Given the description of an element on the screen output the (x, y) to click on. 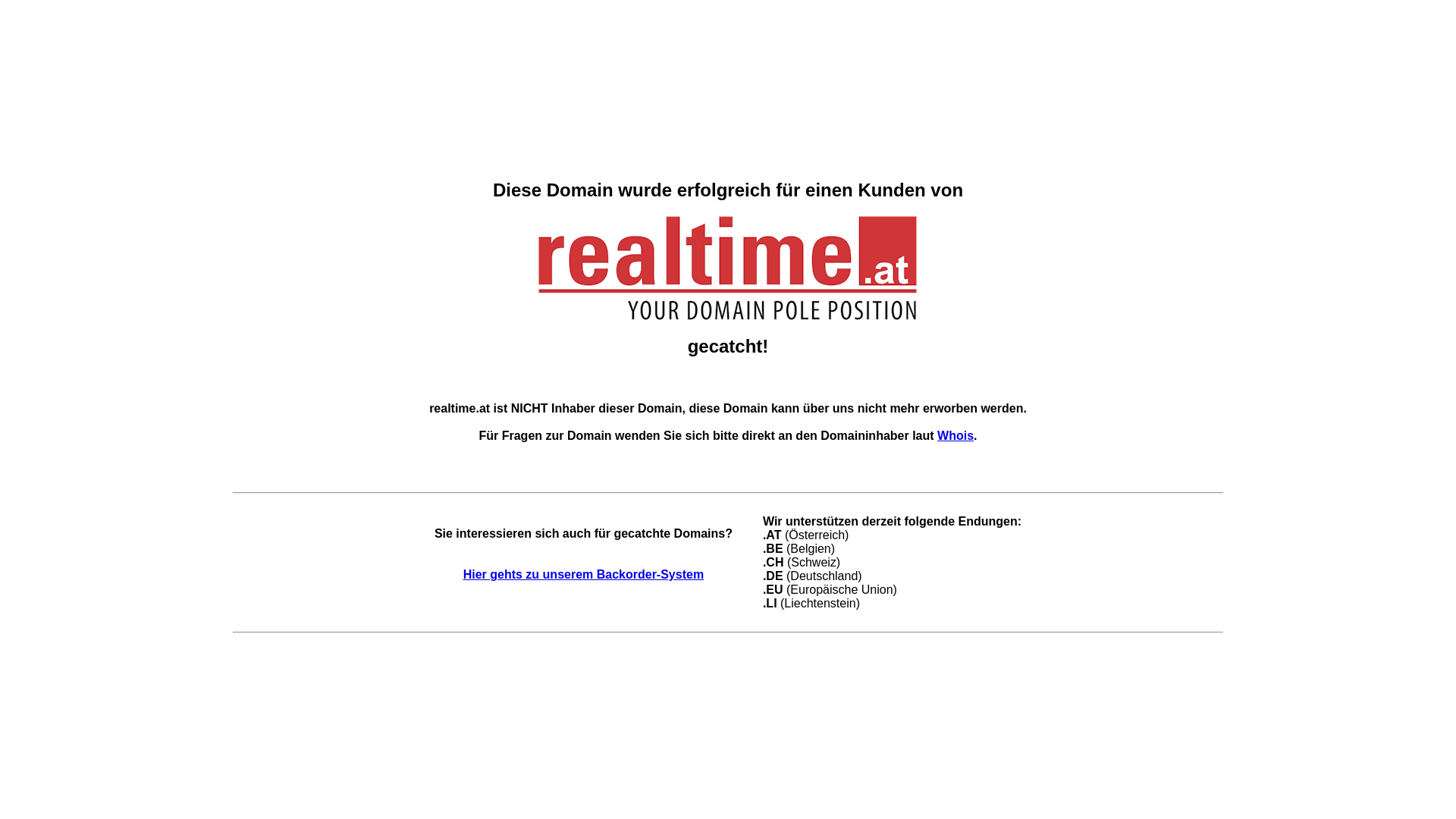
Whois Element type: text (955, 435)
Hier gehts zu unserem Backorder-System Element type: text (583, 573)
